Given the description of an element on the screen output the (x, y) to click on. 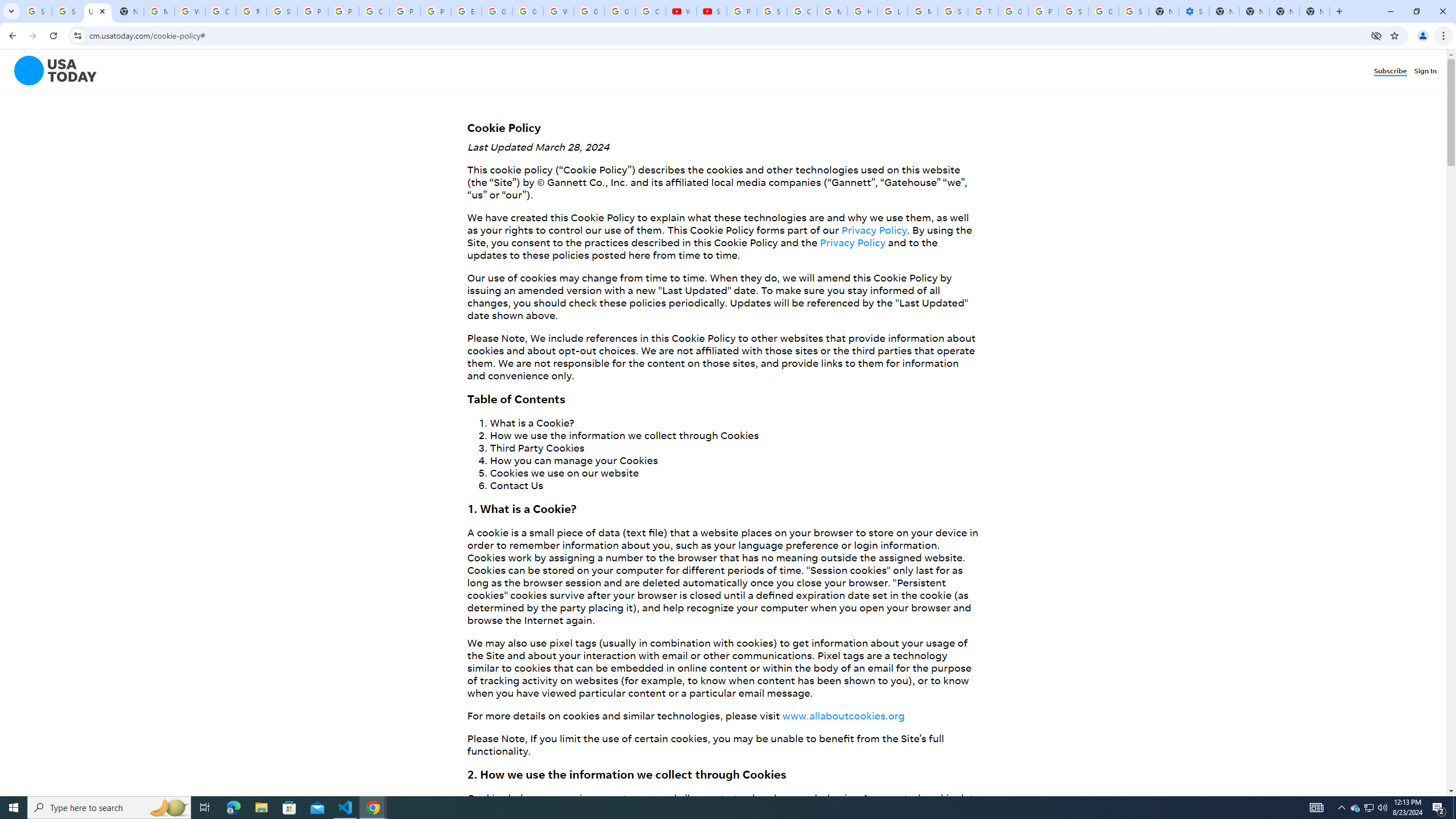
Search our Doodle Library Collection - Google Doodles (952, 11)
USA TODAY (97, 11)
